Given the description of an element on the screen output the (x, y) to click on. 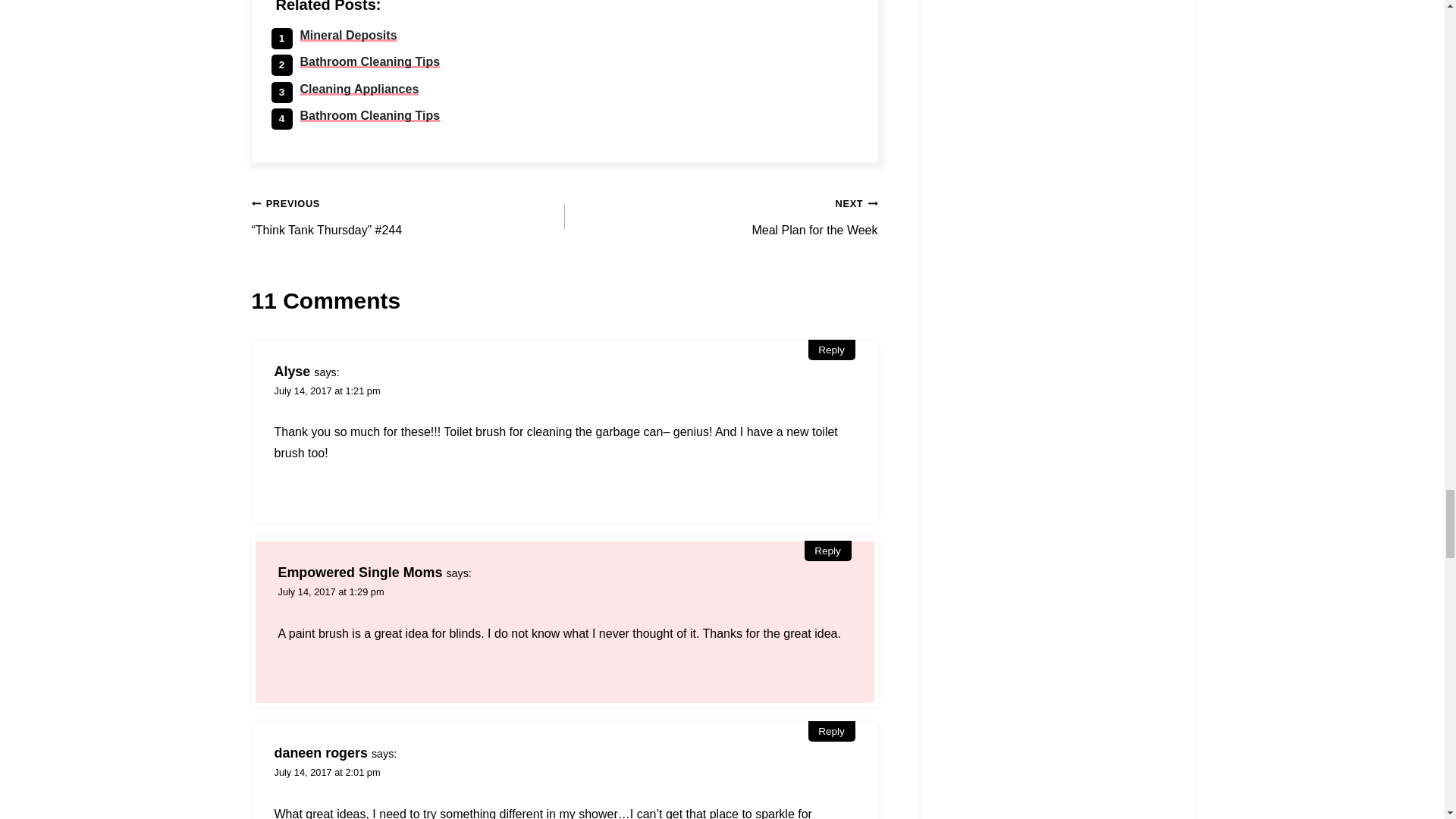
Mineral Deposits (348, 34)
Bathroom Cleaning Tips (370, 61)
Cleaning Appliances (359, 88)
Bathroom Cleaning Tips (370, 115)
